Given the description of an element on the screen output the (x, y) to click on. 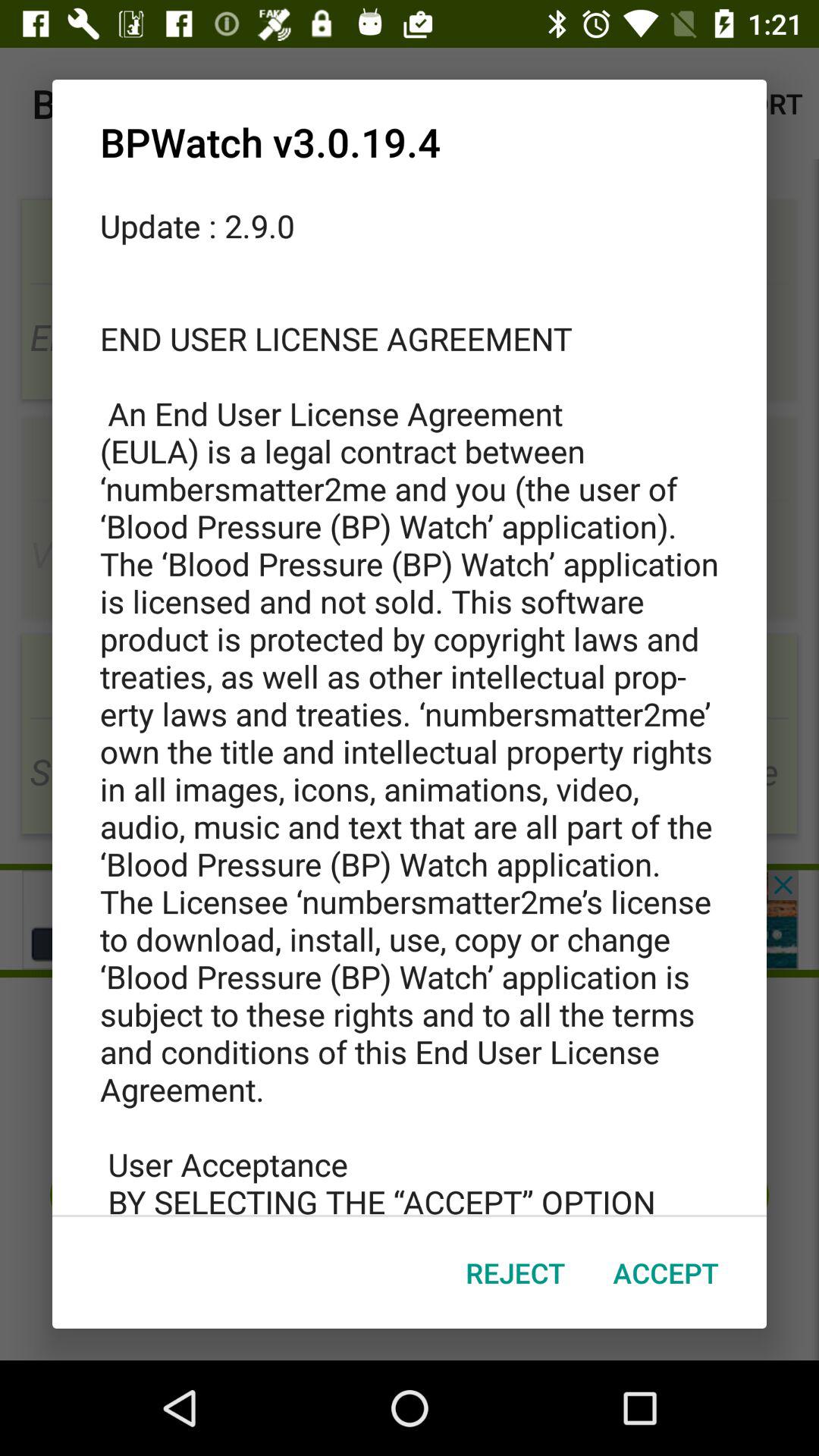
tap the icon at the bottom (515, 1272)
